Given the description of an element on the screen output the (x, y) to click on. 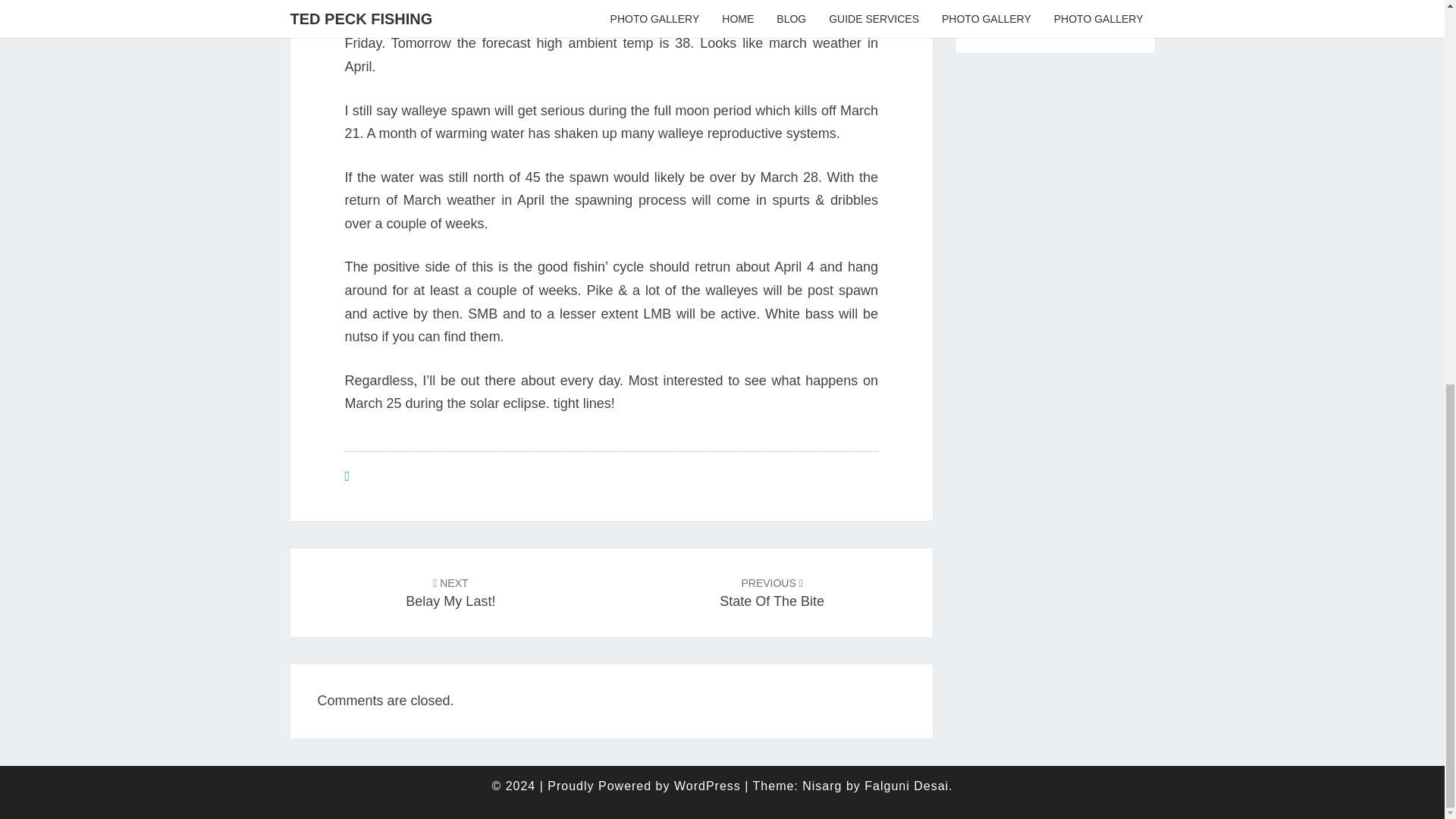
Falguni Desai (450, 591)
WordPress (906, 785)
